Given the description of an element on the screen output the (x, y) to click on. 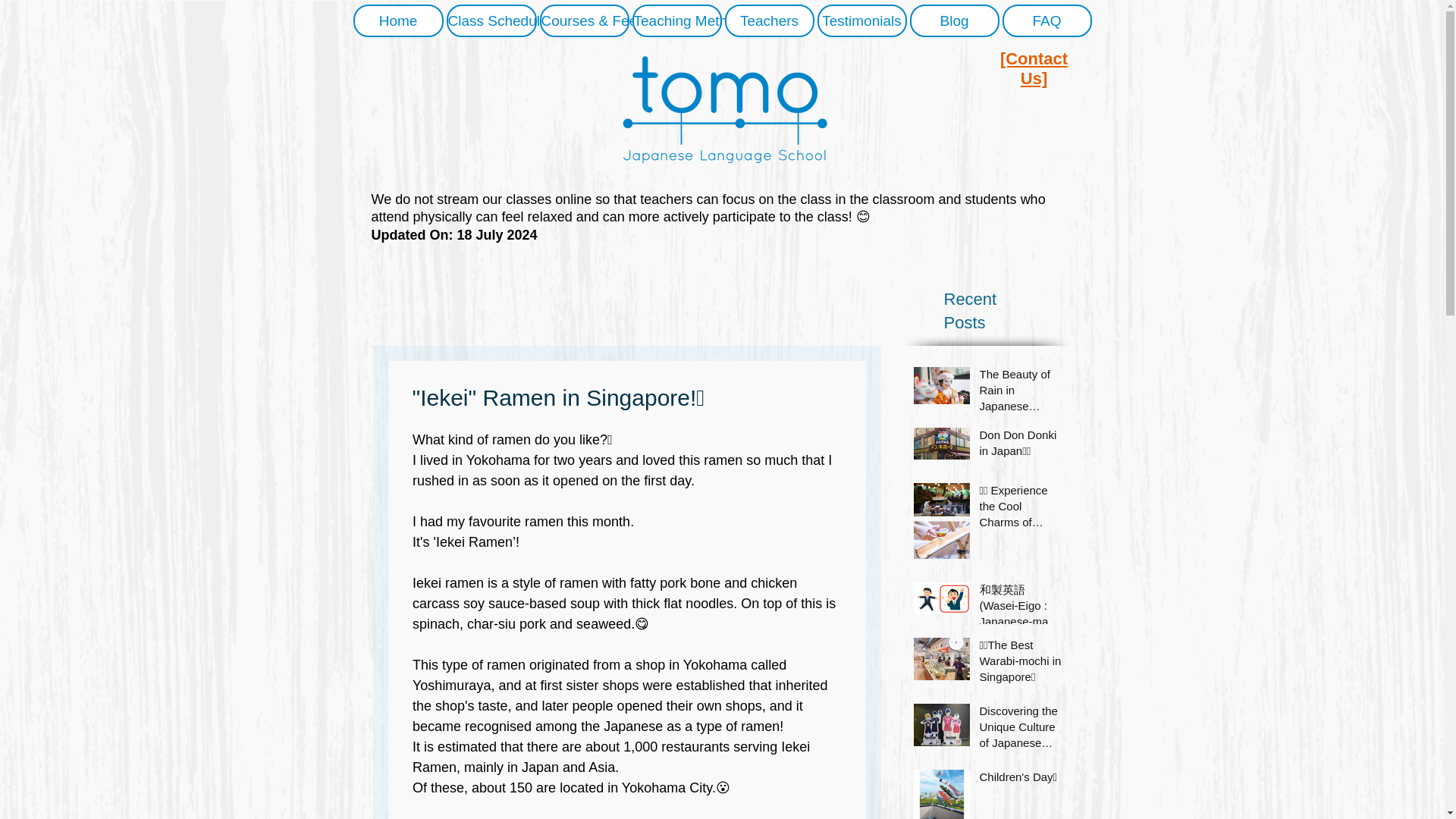
Class Schedule (490, 20)
Teachers (769, 20)
Discovering the Unique Culture of Japanese High School Clubs (1020, 729)
Teaching Method (676, 20)
tomo-school-final.png (721, 110)
Blog (954, 20)
Testimonials (861, 20)
Home (398, 20)
FAQ (1047, 20)
